Given the description of an element on the screen output the (x, y) to click on. 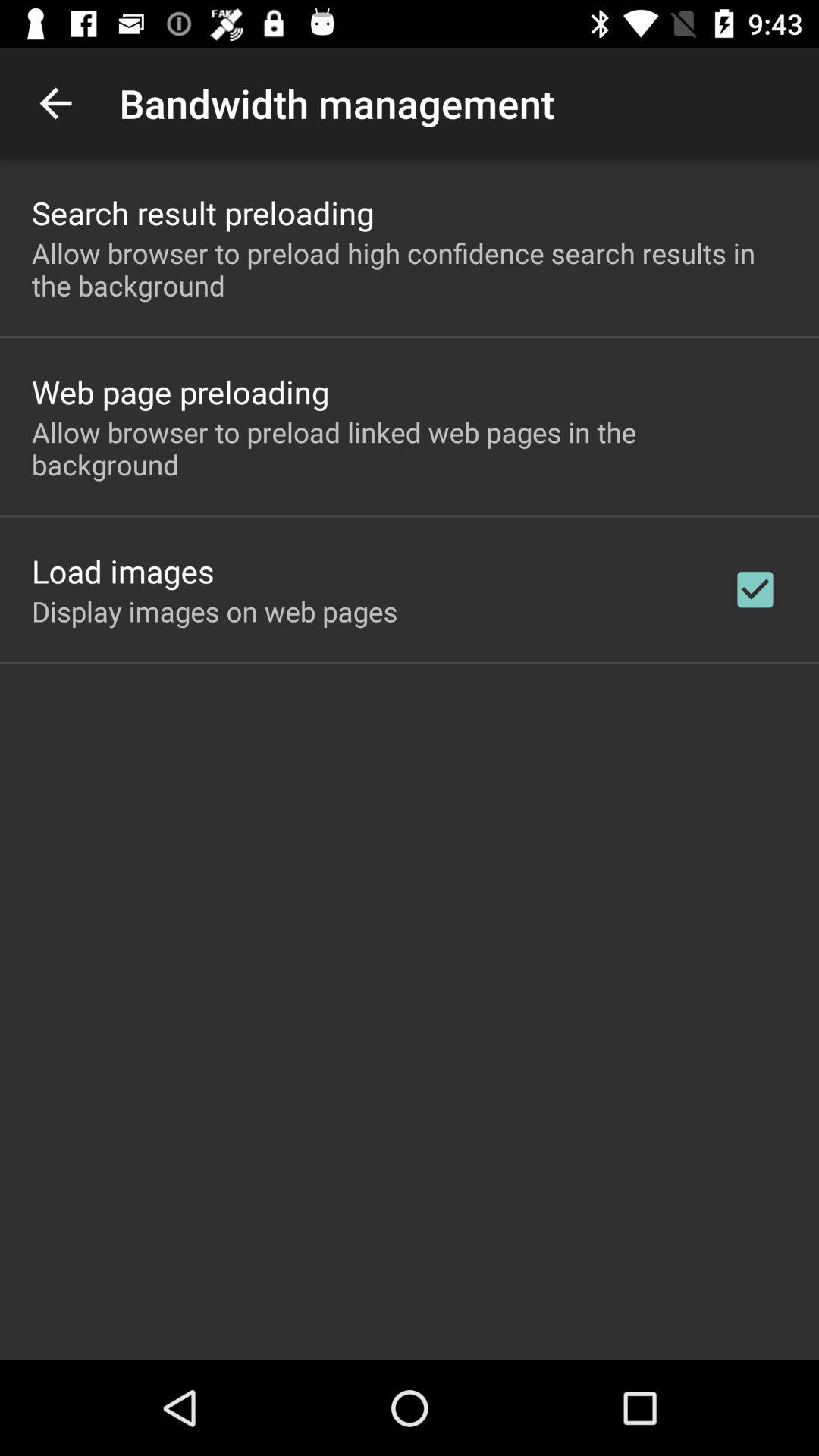
flip to web page preloading item (180, 391)
